Given the description of an element on the screen output the (x, y) to click on. 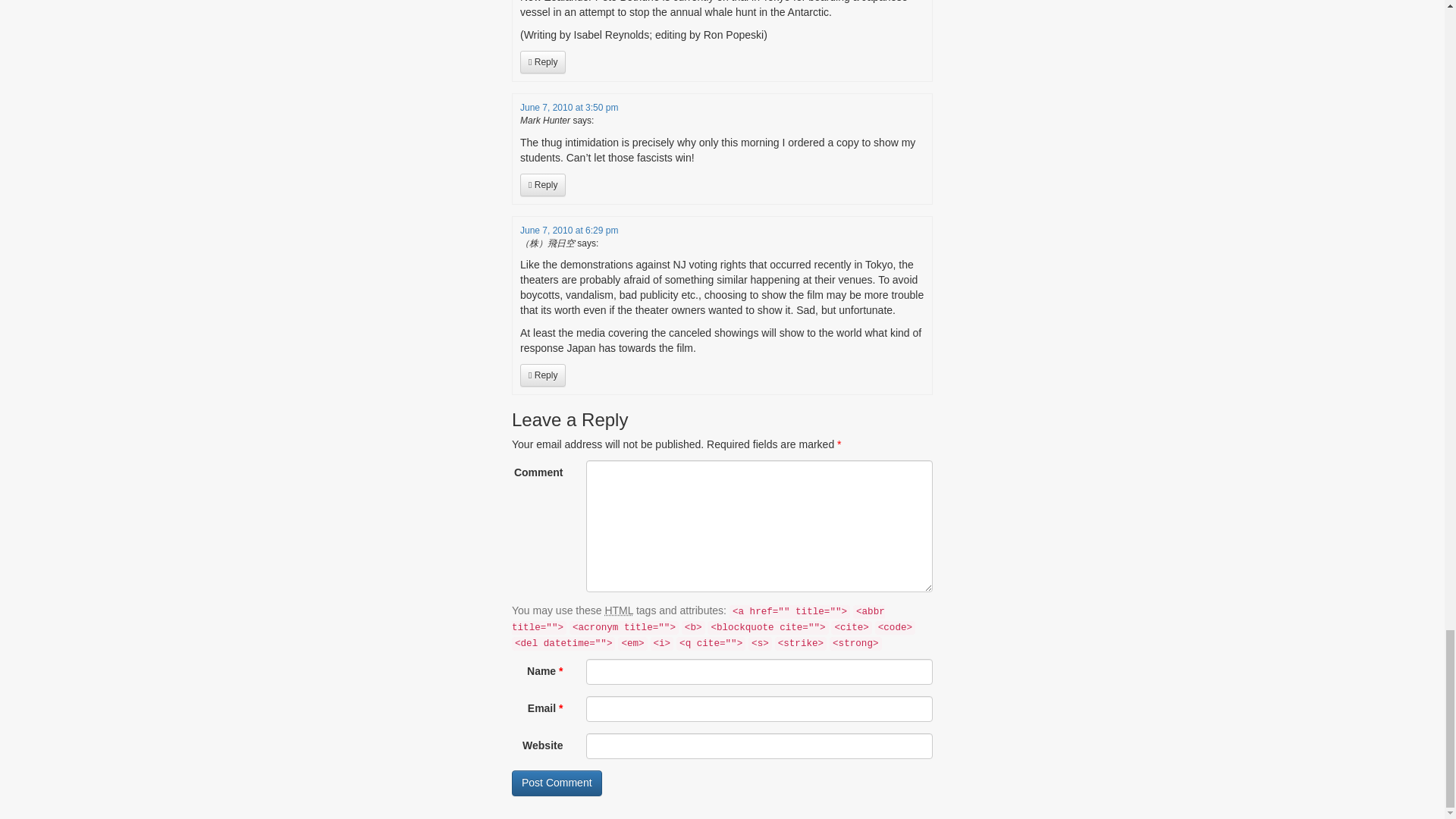
June 7, 2010 at 3:50 pm (568, 107)
Post Comment (557, 783)
Reply (542, 61)
